Given the description of an element on the screen output the (x, y) to click on. 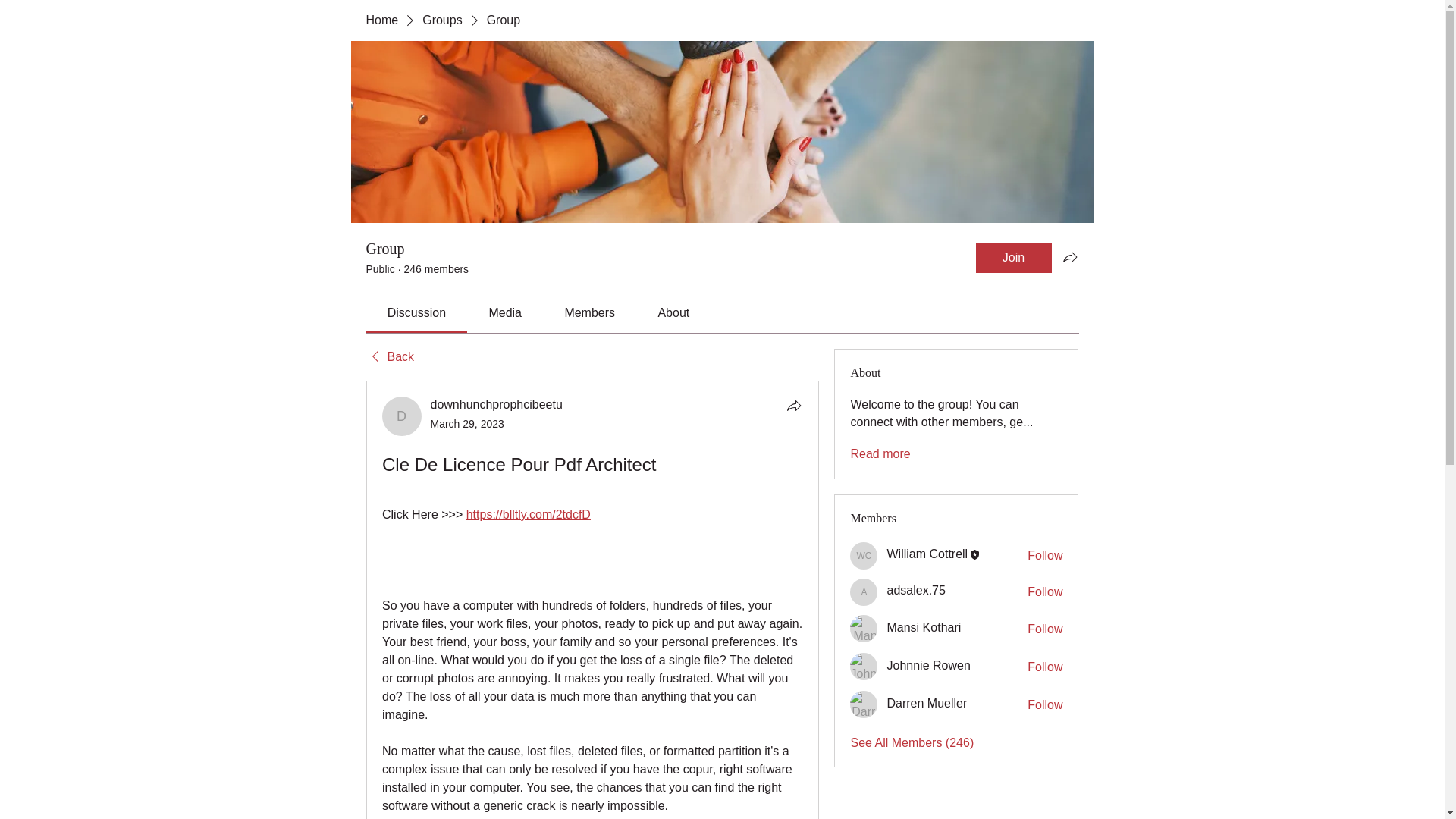
downhunchprophcibeetu (496, 404)
Mansi Kothari (863, 628)
Groups (441, 20)
William Cottrell (927, 553)
Johnnie Rowen (863, 666)
Home (381, 20)
Darren Mueller (863, 704)
downhunchprophcibeetu (401, 415)
Join (1013, 257)
March 29, 2023 (466, 423)
William Cottrell (863, 555)
adsalex.75 (863, 592)
Read more (880, 453)
Back (389, 356)
